Given the description of an element on the screen output the (x, y) to click on. 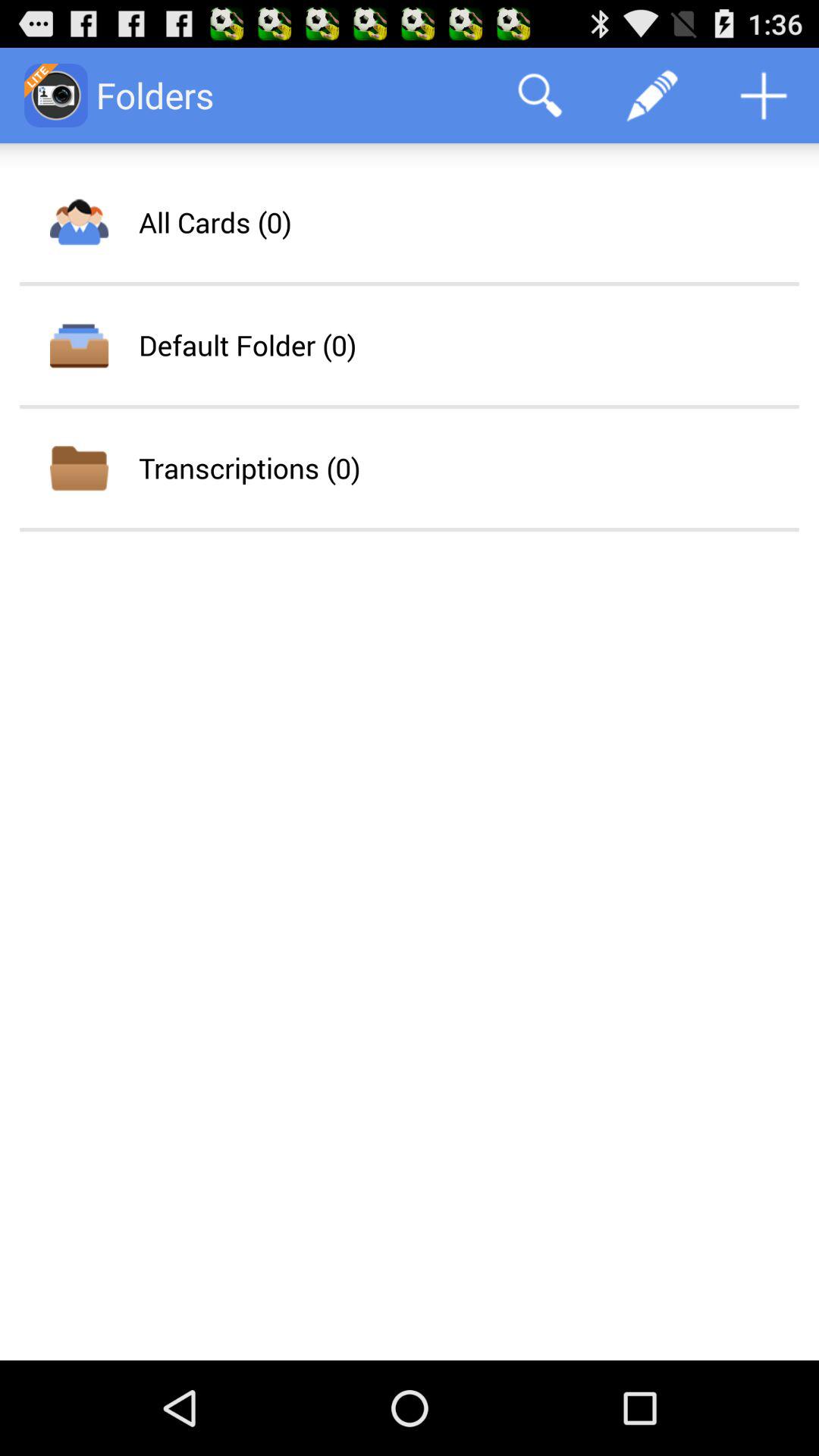
tap the app below the all cards (0) icon (247, 345)
